Given the description of an element on the screen output the (x, y) to click on. 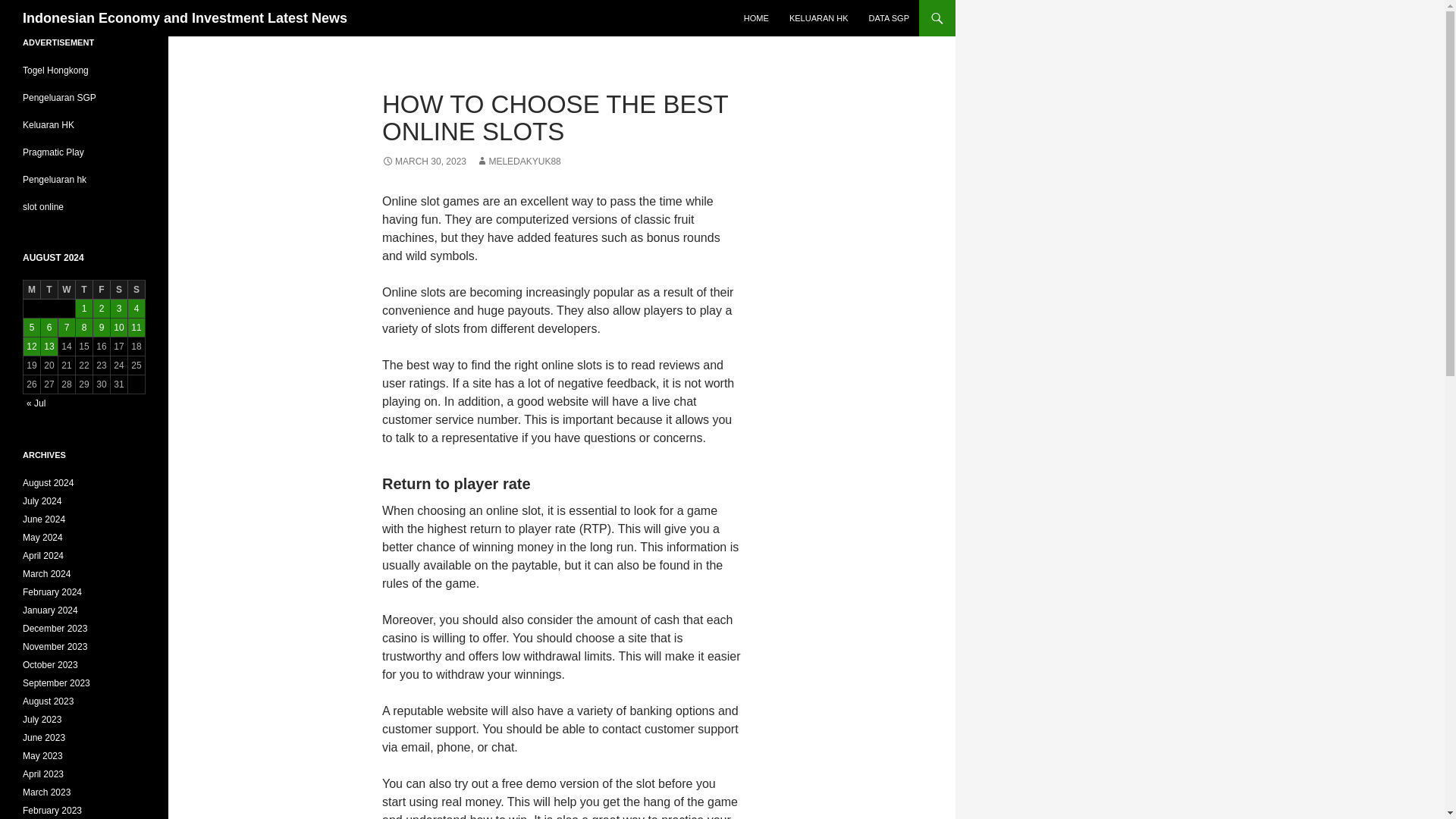
13 (49, 346)
Indonesian Economy and Investment Latest News (185, 18)
KELUARAN HK (818, 18)
2 (101, 308)
Thursday (84, 289)
7 (66, 327)
8 (84, 327)
June 2024 (44, 519)
slot online (43, 206)
MARCH 30, 2023 (423, 161)
